Given the description of an element on the screen output the (x, y) to click on. 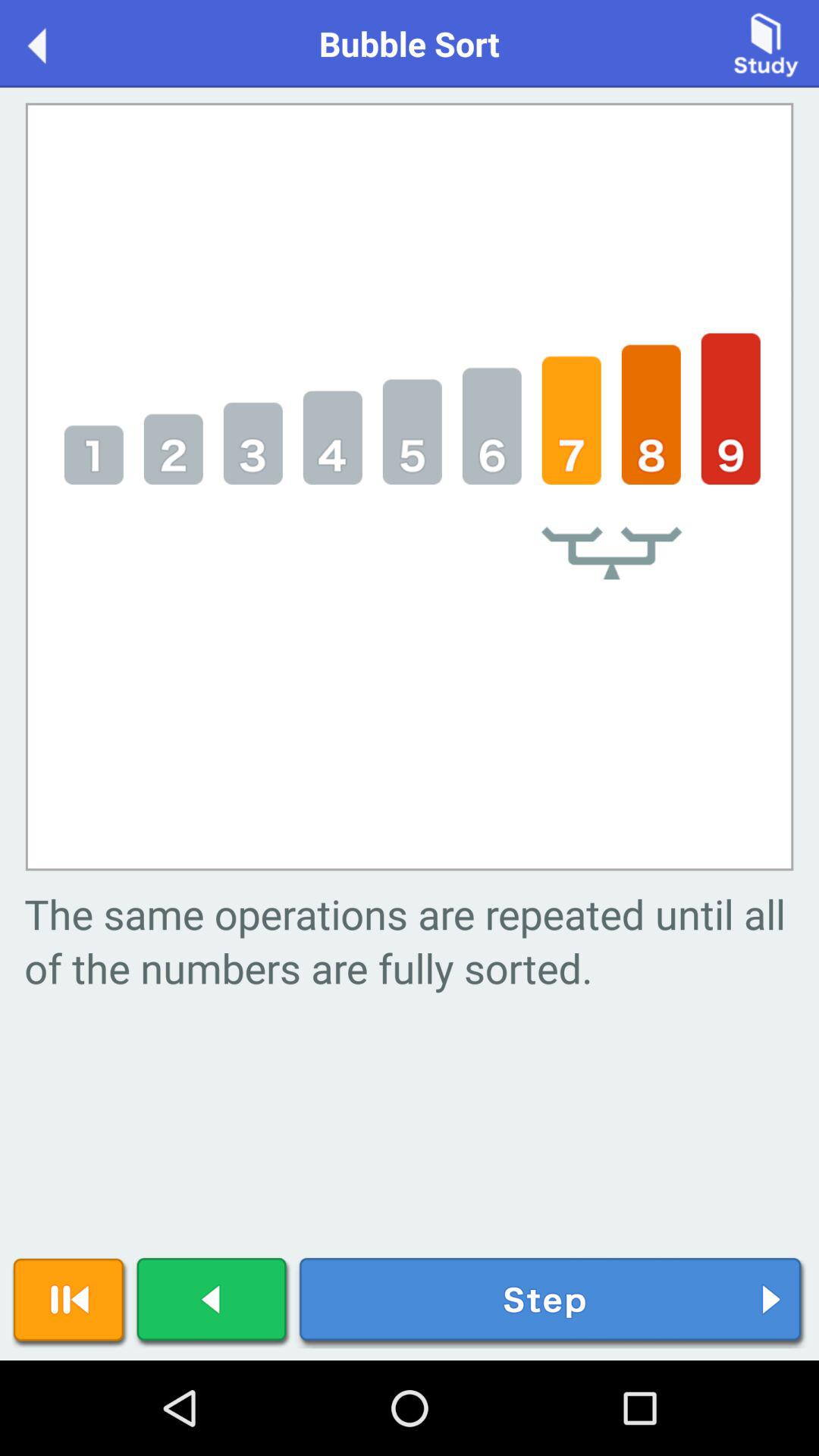
play (213, 1302)
